Given the description of an element on the screen output the (x, y) to click on. 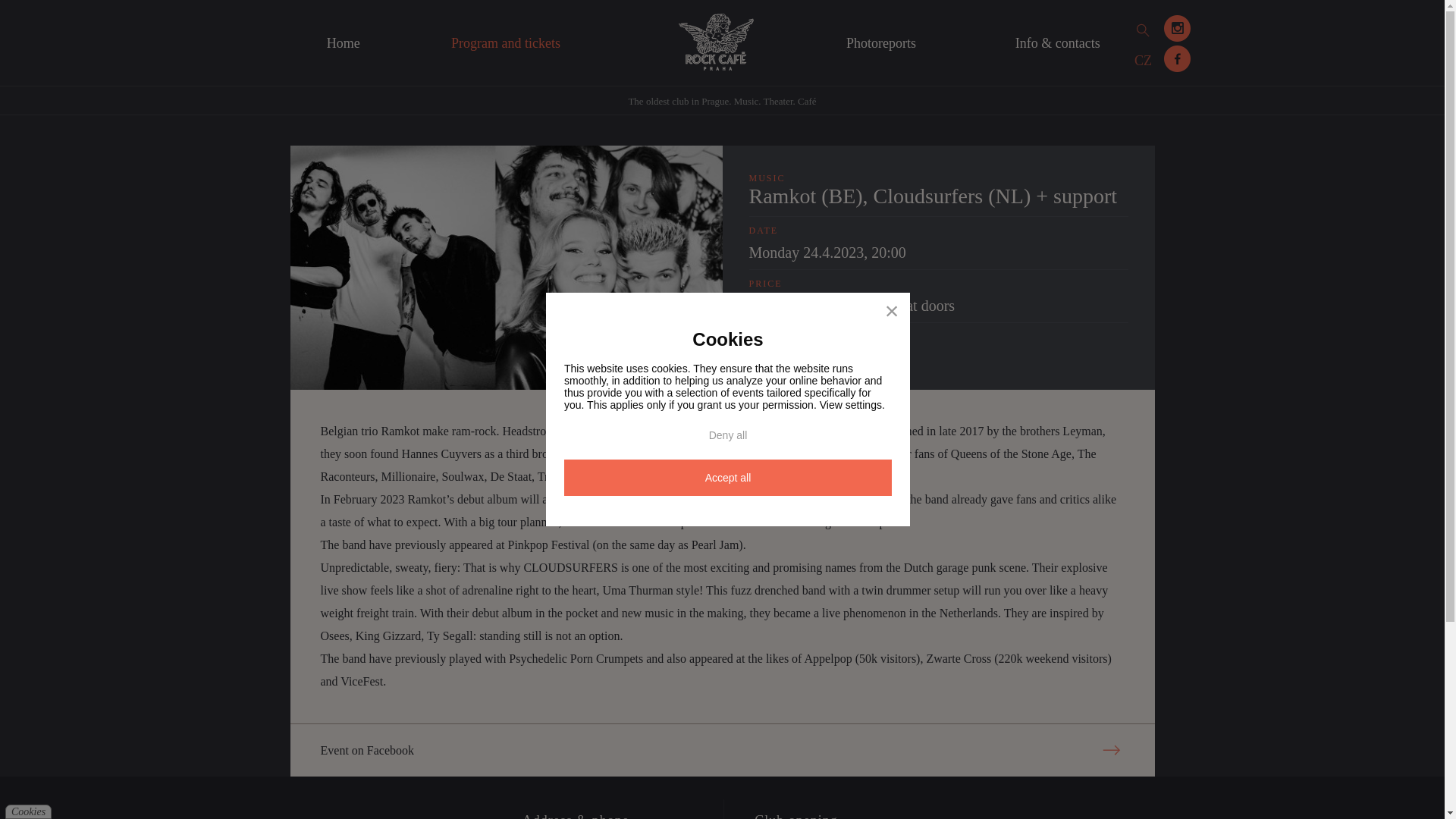
Home (342, 43)
Event on Facebook (721, 749)
Program and tickets (505, 43)
CZ (1142, 60)
Photoreports (881, 43)
